Given the description of an element on the screen output the (x, y) to click on. 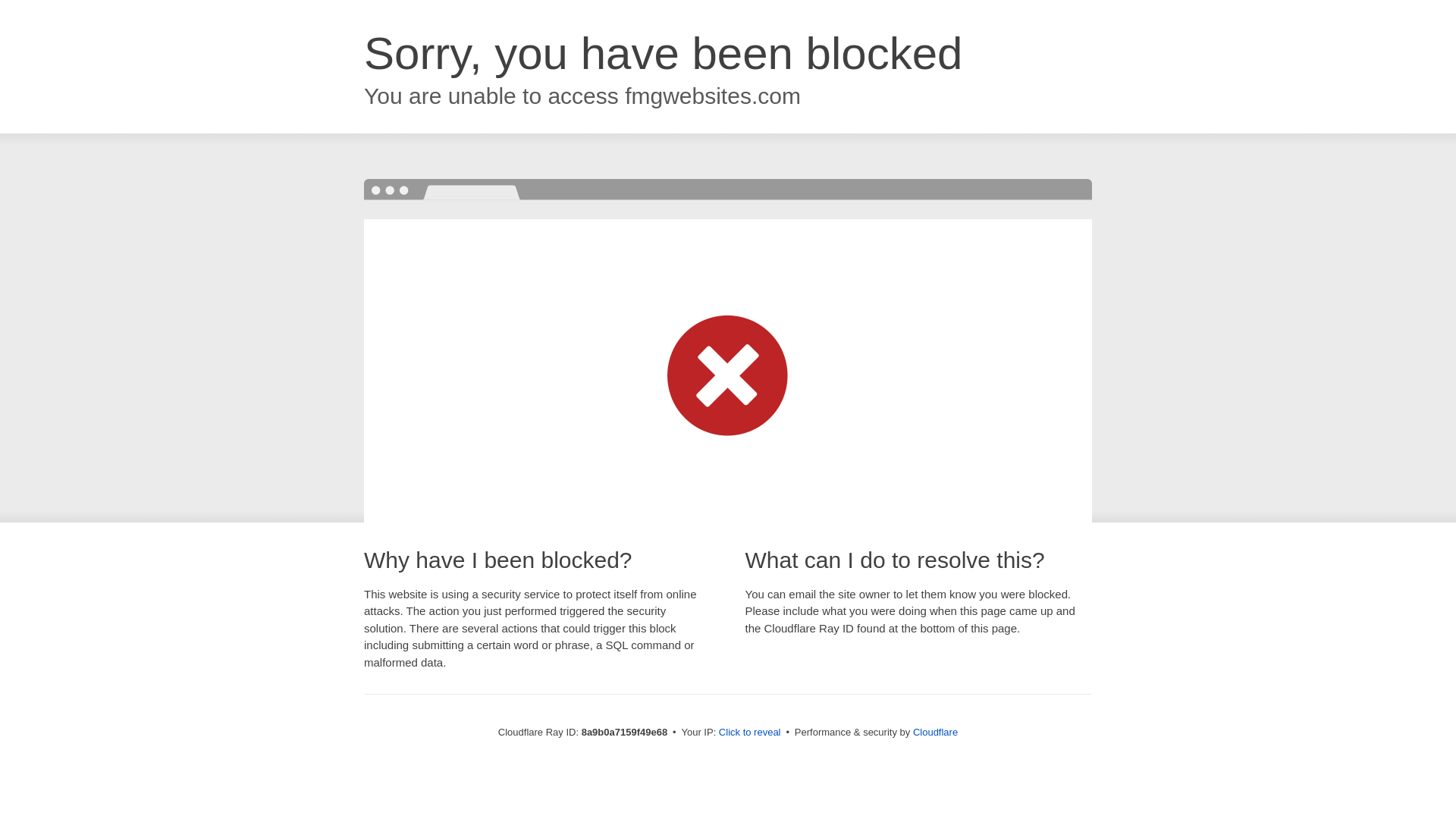
Cloudflare (935, 731)
Click to reveal (749, 732)
